Given the description of an element on the screen output the (x, y) to click on. 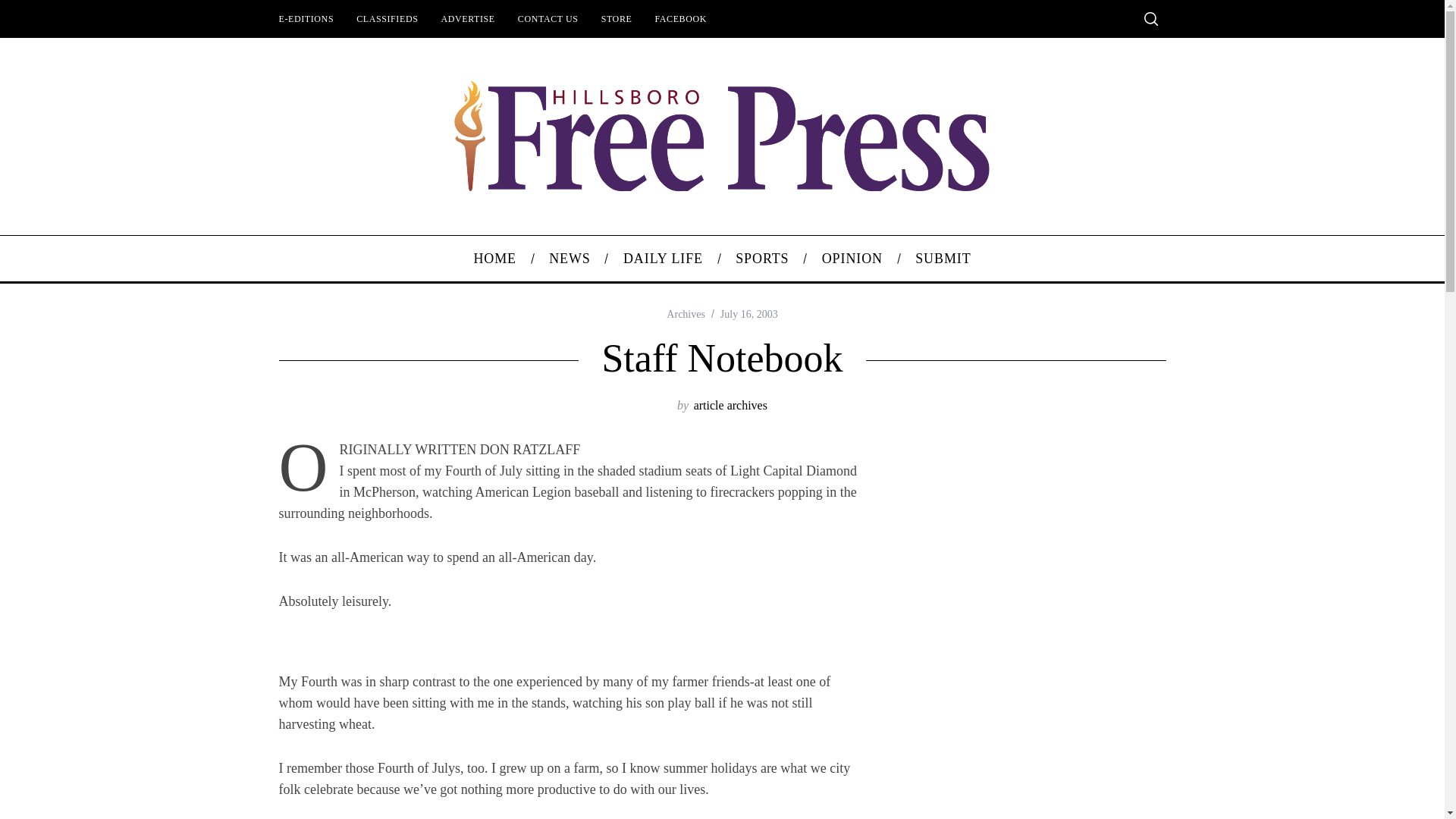
OPINION (851, 258)
STORE (616, 18)
CLASSIFIEDS (387, 18)
DAILY LIFE (663, 258)
FACEBOOK (680, 18)
CONTACT US (547, 18)
NEWS (569, 258)
ADVERTISE (467, 18)
E-EDITIONS (305, 18)
SPORTS (762, 258)
